Given the description of an element on the screen output the (x, y) to click on. 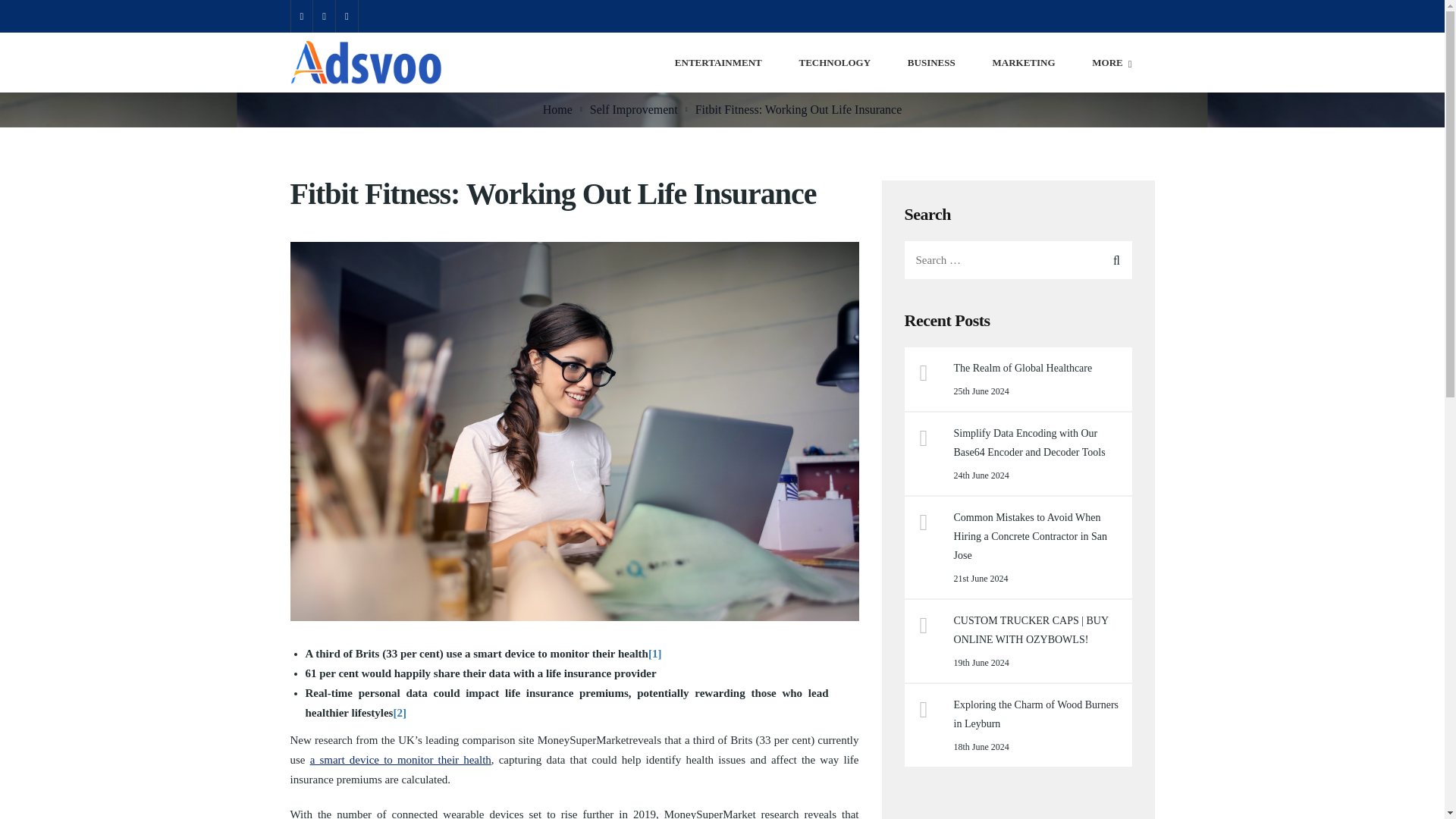
MARKETING (1022, 62)
facebook (323, 16)
ENTERTAINMENT (718, 62)
MORE (1111, 62)
Advertisement (1018, 807)
twitter (346, 16)
google-plus (301, 16)
BUSINESS (931, 62)
TECHNOLOGY (833, 62)
